Given the description of an element on the screen output the (x, y) to click on. 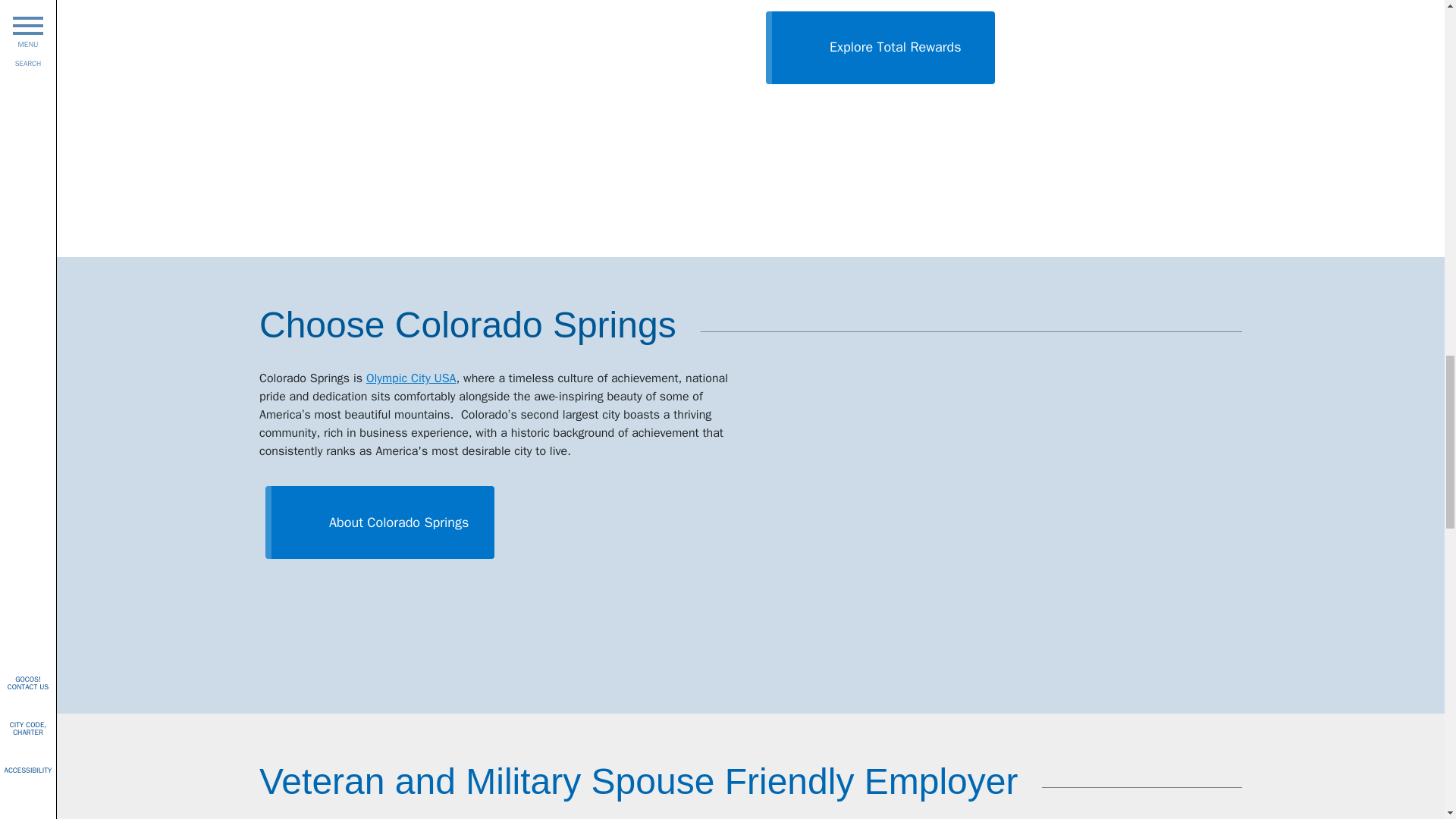
Explore Total Rewards (880, 44)
About Colorado Springs (379, 518)
ChooseColoradoSprings.com - Oh, beautiful! (1000, 504)
Olympic City USA (411, 378)
